Given the description of an element on the screen output the (x, y) to click on. 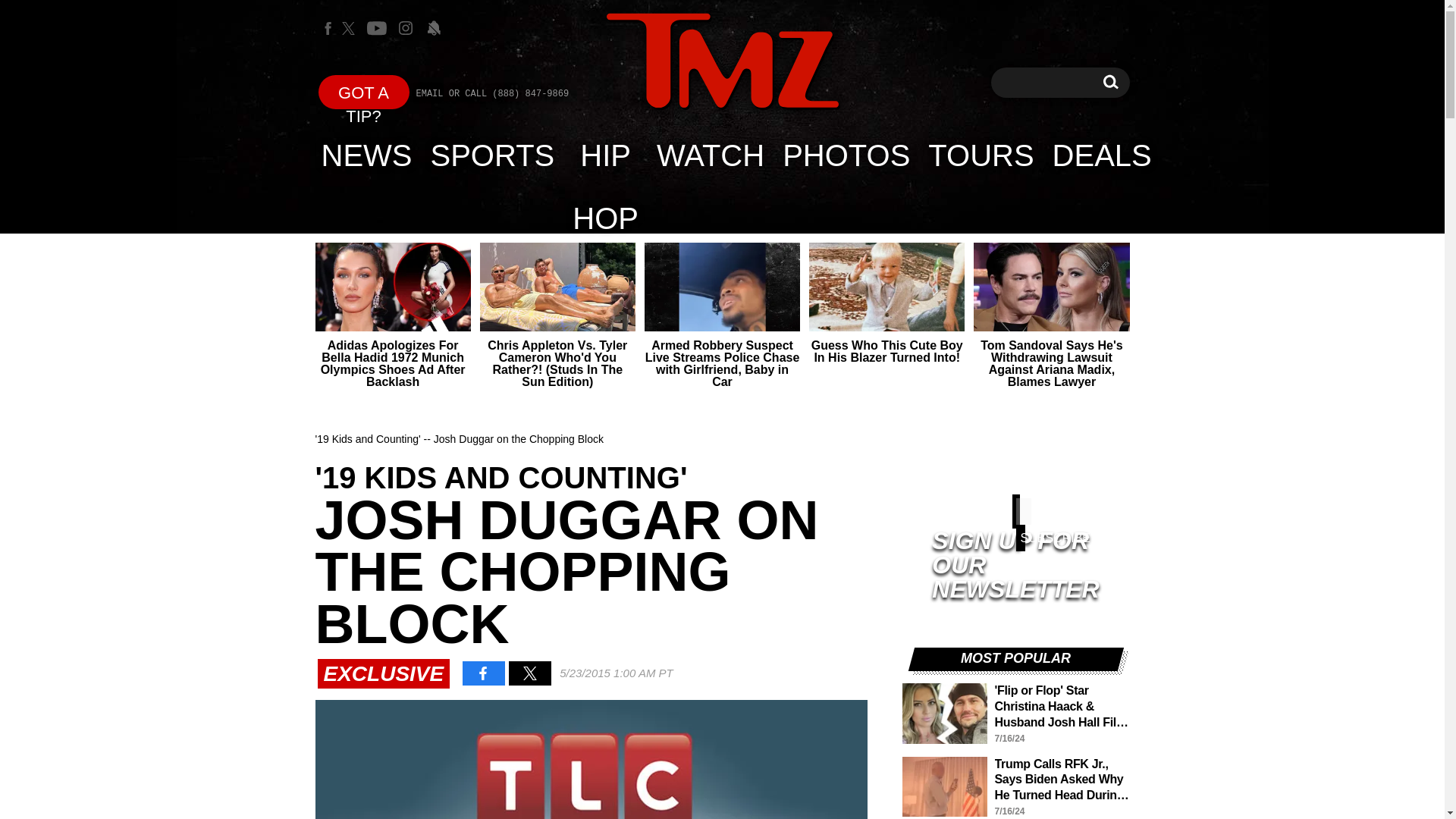
WATCH (710, 154)
SPORTS (493, 154)
DEALS (1101, 154)
TMZ (1110, 82)
HIP HOP (722, 60)
GOT A TIP? (605, 154)
PHOTOS (363, 91)
Search (845, 154)
TMZ (1110, 81)
TOURS (722, 62)
NEWS (980, 154)
